Given the description of an element on the screen output the (x, y) to click on. 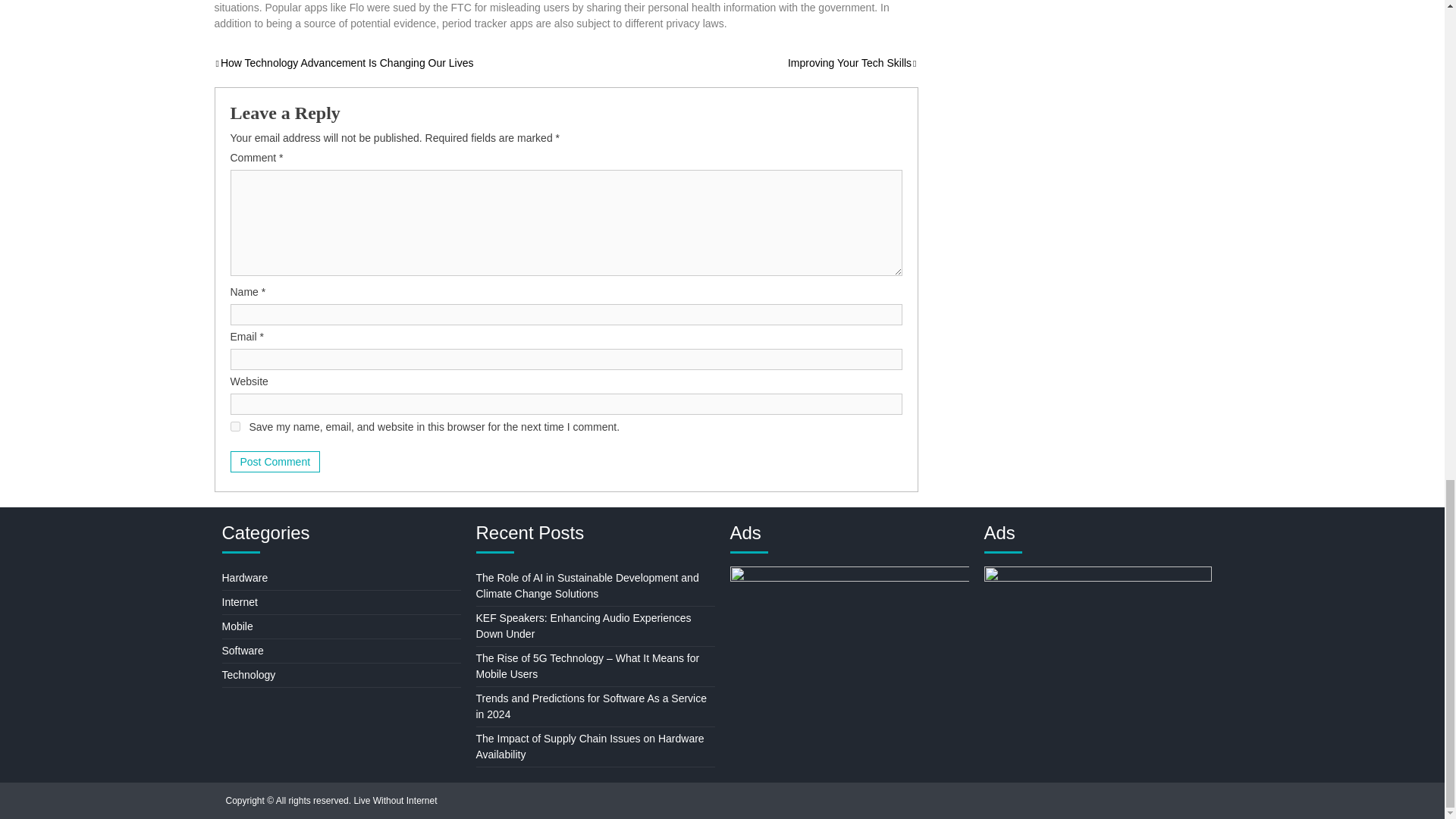
yes (235, 426)
Internet (239, 602)
Post Comment (275, 461)
Hardware (244, 577)
Trends and Predictions for Software As a Service in 2024 (591, 706)
How Technology Advancement Is Changing Our Lives (343, 62)
KEF Speakers: Enhancing Audio Experiences Down Under (583, 625)
Software (242, 650)
Post Comment (275, 461)
Mobile (236, 625)
Technology (248, 674)
Improving Your Tech Skills (852, 62)
The Impact of Supply Chain Issues on Hardware Availability (590, 746)
